Given the description of an element on the screen output the (x, y) to click on. 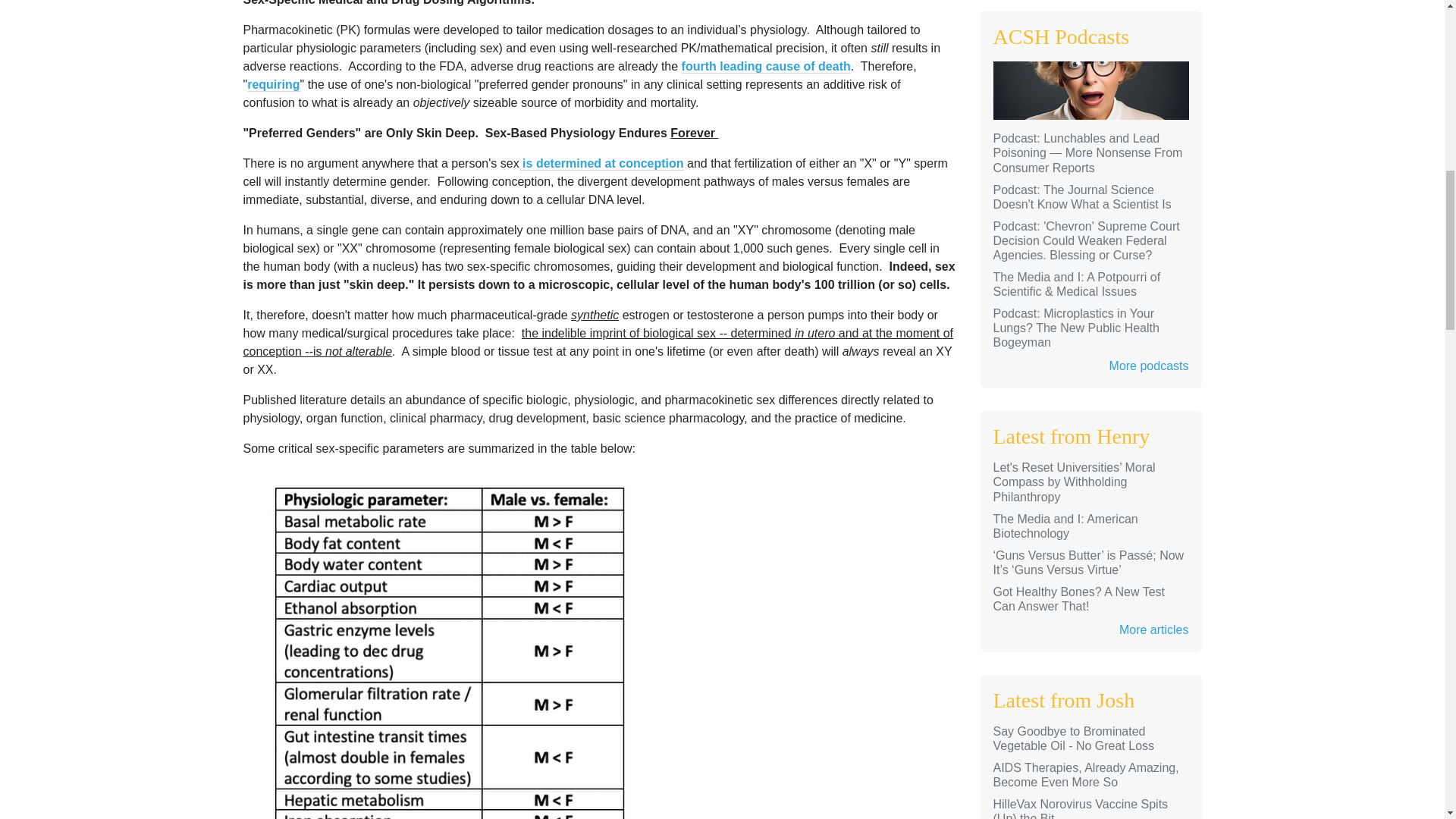
requiring (273, 84)
is determined at conception (601, 163)
fourth leading cause of death (765, 66)
